Given the description of an element on the screen output the (x, y) to click on. 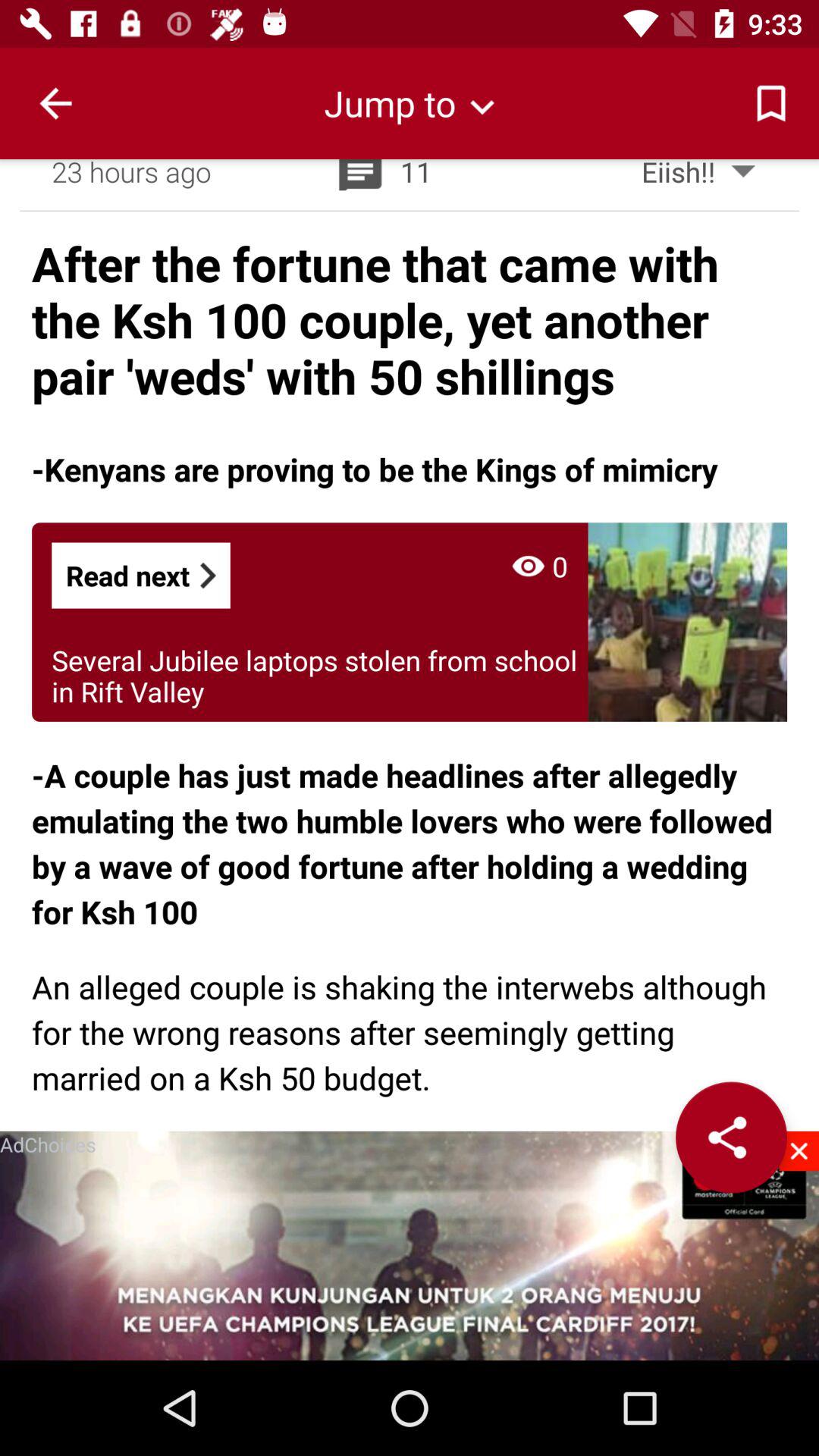
share (731, 1137)
